Given the description of an element on the screen output the (x, y) to click on. 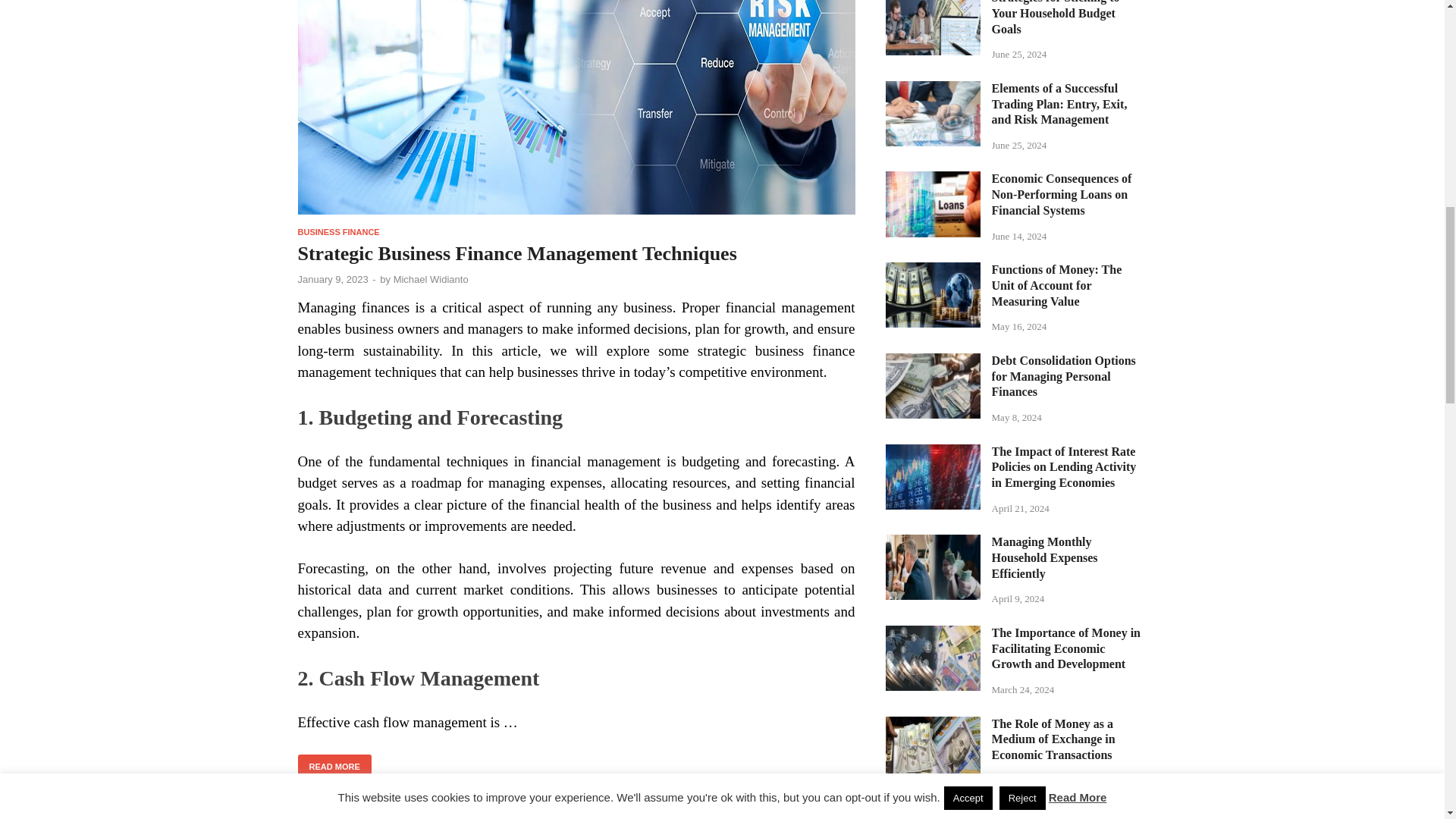
Strategic Business Finance Management Techniques (575, 113)
Managing Monthly Household Expenses Efficiently (932, 543)
Functions of Money: The Unit of Account for Measuring Value (932, 270)
Debt Consolidation Options for Managing Personal Finances (932, 361)
Strategies for Sticking to Your Household Budget Goals (932, 2)
